Given the description of an element on the screen output the (x, y) to click on. 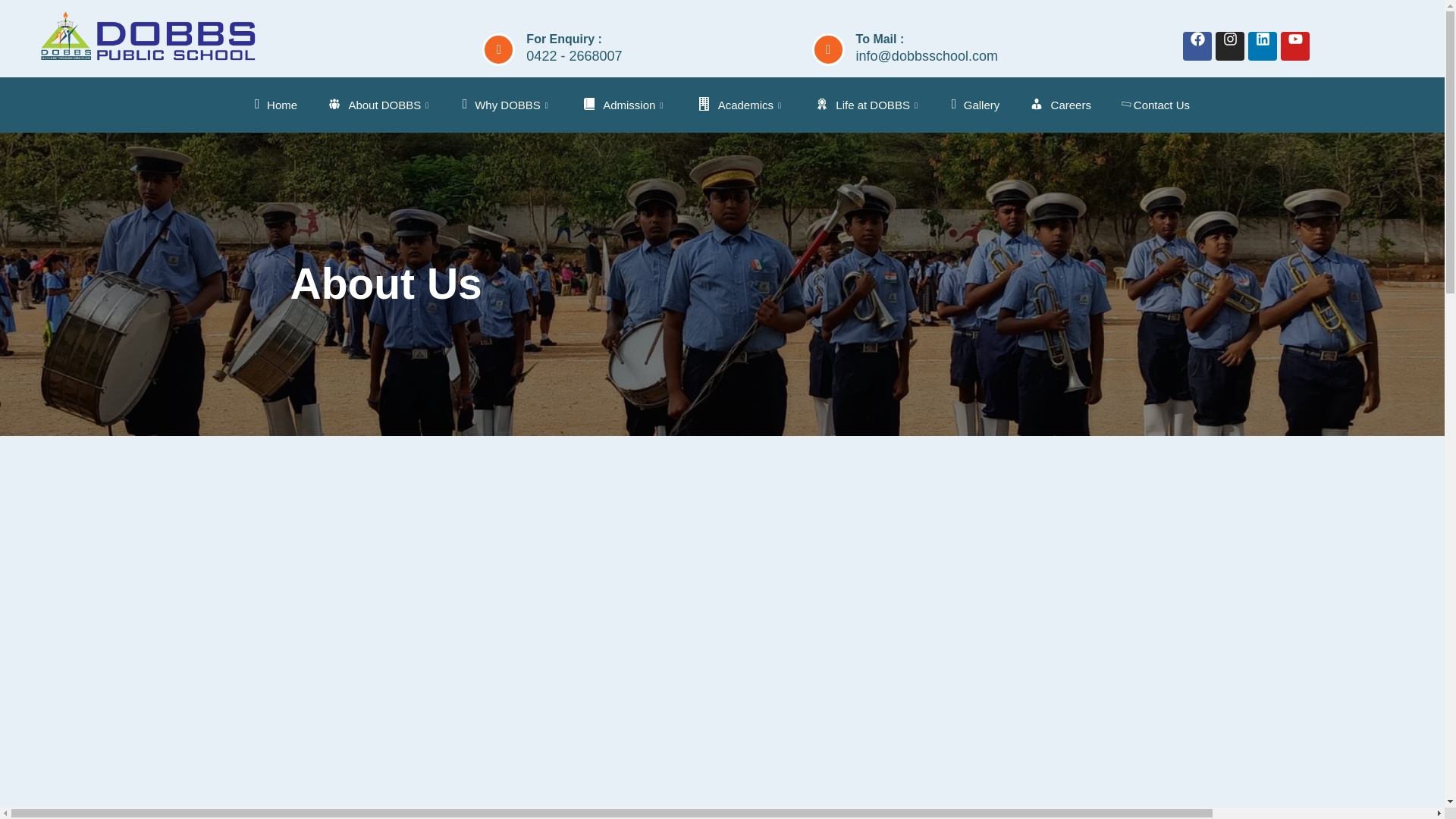
Home (275, 105)
To Mail : (880, 38)
Why DOBBS (507, 105)
For Enquiry : (563, 38)
About DOBBS (379, 105)
